Given the description of an element on the screen output the (x, y) to click on. 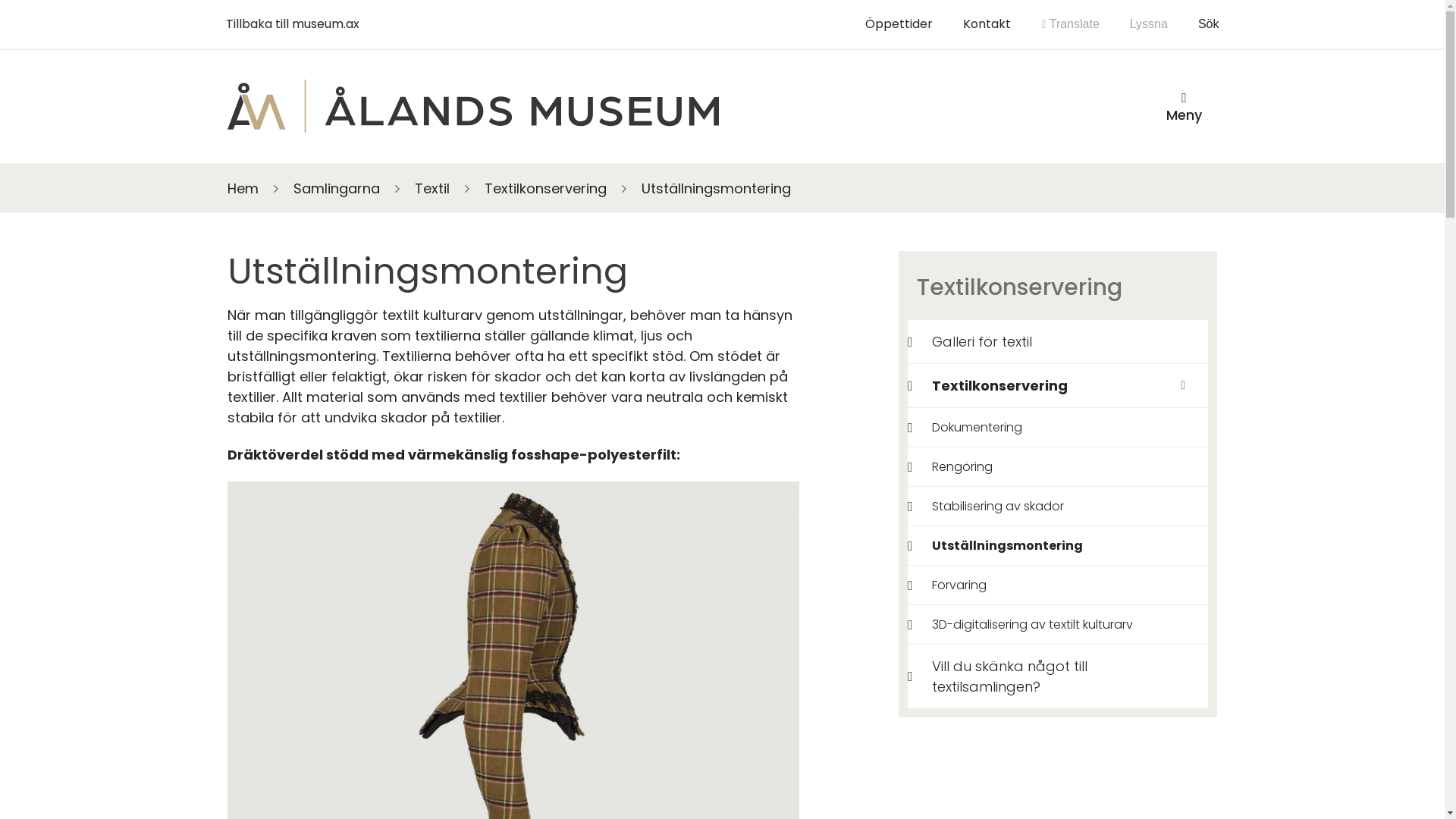
Meny Element type: text (1184, 106)
Hem Element type: hover (472, 105)
3D-digitalisering av textilt kulturarv Element type: text (1022, 624)
Stabilisering av skador Element type: text (988, 505)
Hem Element type: text (242, 187)
Lyssna Element type: text (1148, 24)
Translate Element type: text (1069, 24)
Kontakt Element type: text (986, 24)
Dokumentering Element type: text (967, 426)
Textilkonservering Element type: text (1015, 385)
Textilkonservering Element type: text (1057, 288)
Samlingarna Element type: text (336, 187)
Textil Element type: text (431, 187)
Textilkonservering Element type: text (545, 187)
Tillbaka till museum.ax Element type: text (292, 24)
